Given the description of an element on the screen output the (x, y) to click on. 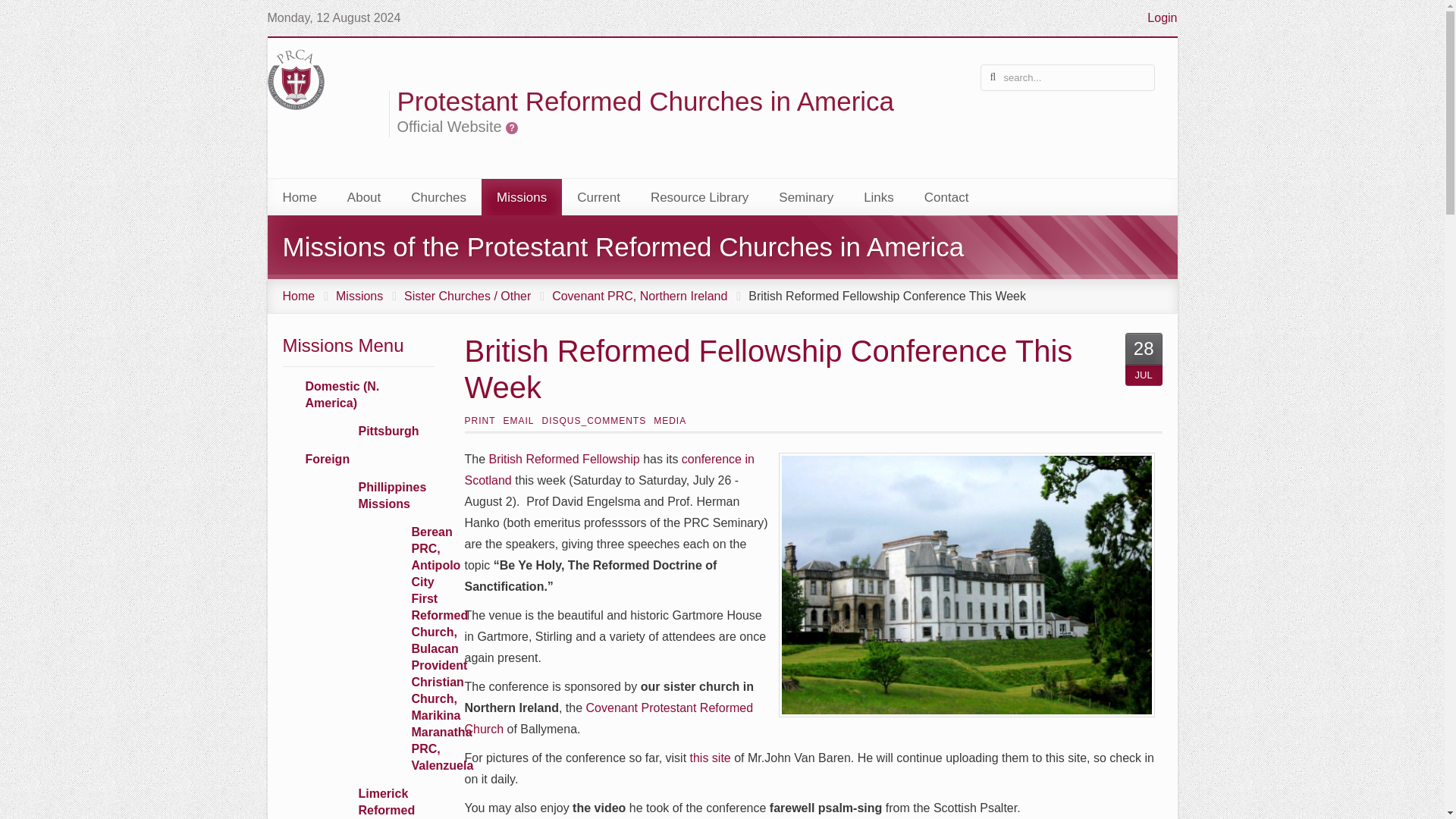
Login (1161, 17)
Missions (521, 197)
Churches (438, 197)
Home (298, 197)
Reset (15, 12)
